Given the description of an element on the screen output the (x, y) to click on. 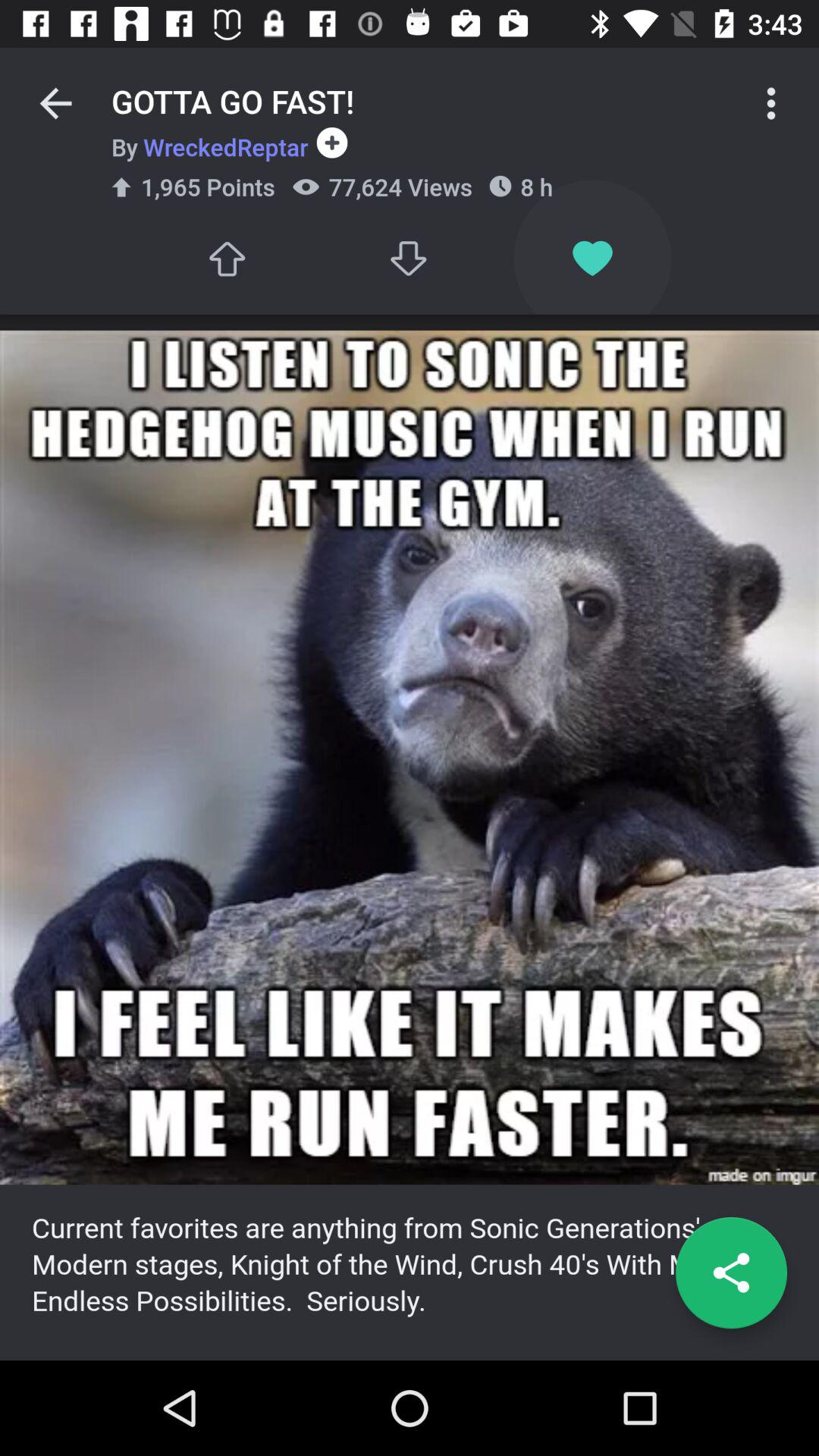
upvote this post (226, 258)
